Given the description of an element on the screen output the (x, y) to click on. 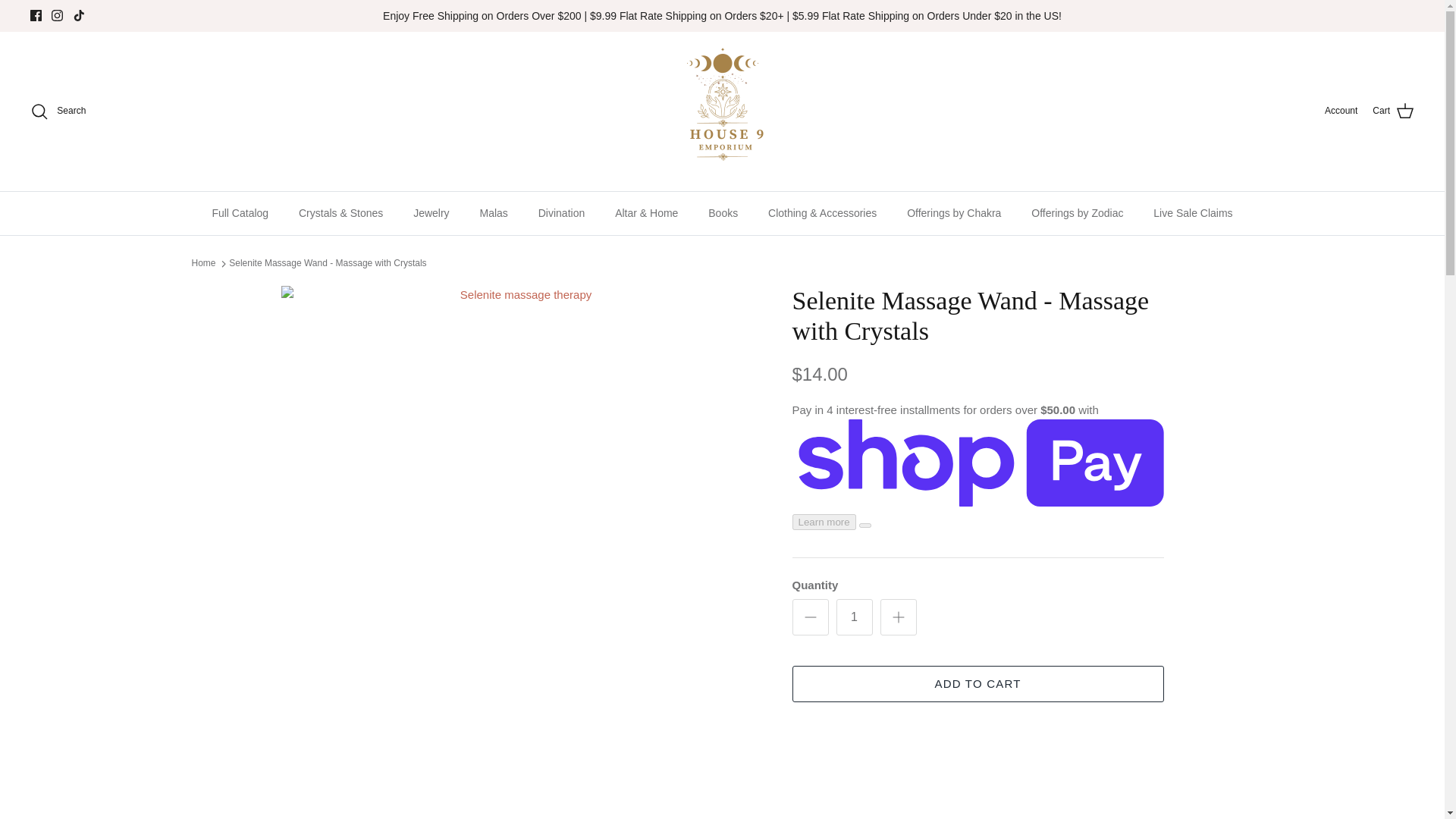
Facebook (36, 15)
House 9 Emporium (722, 111)
1 (853, 616)
Full Catalog (240, 213)
Account (1340, 110)
Facebook (36, 15)
Search (57, 111)
Instagram (56, 15)
Plus (897, 617)
